Given the description of an element on the screen output the (x, y) to click on. 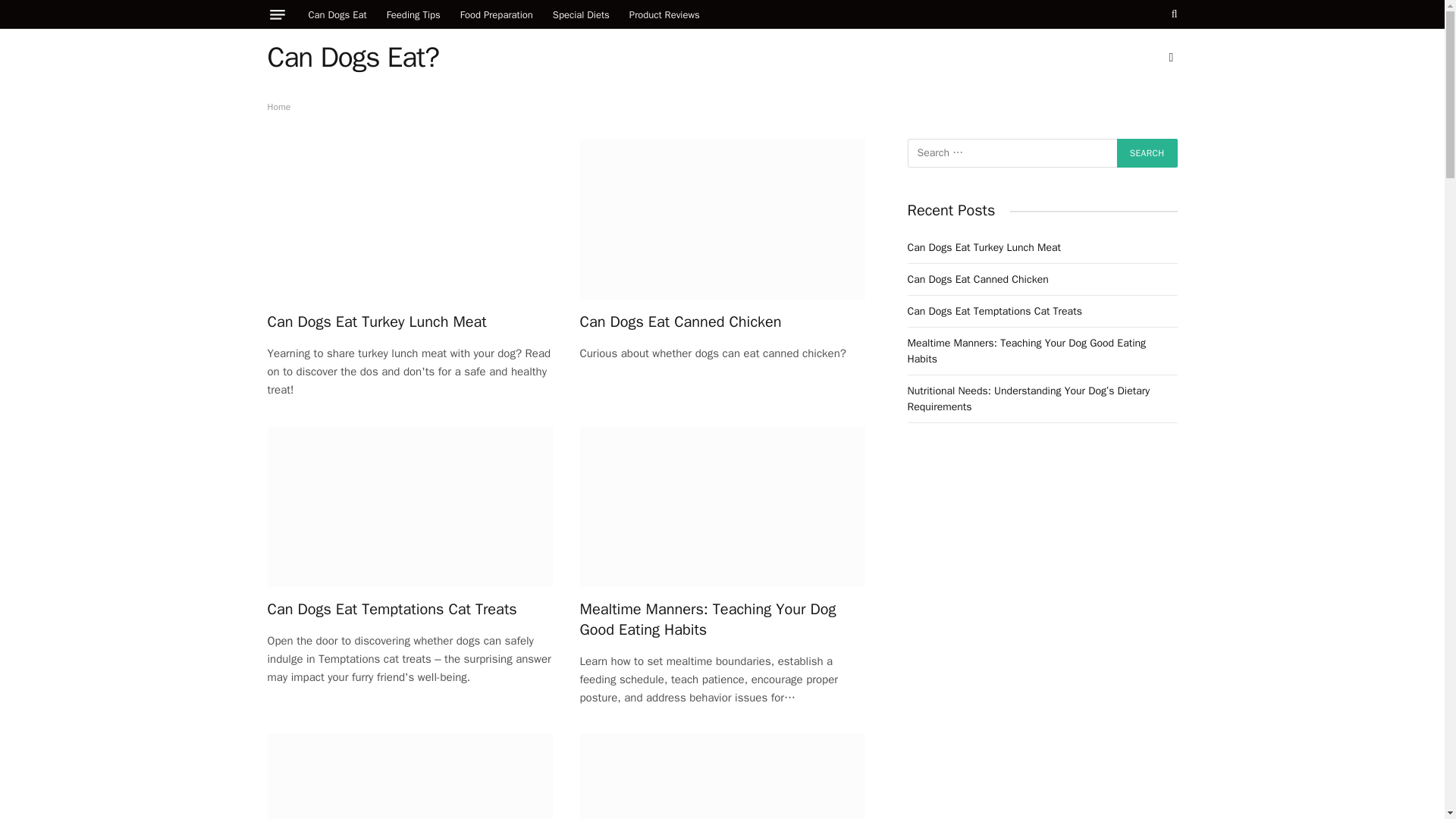
Can Dogs Eat Canned Chicken (721, 322)
Can Dogs Eat Canned Chicken (721, 218)
Can Dogs Eat Turkey Lunch Meat (408, 218)
Mealtime Manners: Teaching Your Dog Good Eating Habits (721, 618)
Mealtime Manners: Teaching Your Dog Good Eating Habits (721, 506)
Search (1146, 152)
Special Diets (581, 14)
Can Dogs Eat? (352, 57)
Switch to Dark Design - easier on eyes. (1168, 57)
Can Dogs Eat? (352, 57)
Product Reviews (665, 14)
Feeding Tips (413, 14)
Can Dogs Eat Turkey Lunch Meat (408, 322)
Search (1173, 14)
Can Dogs Eat Temptations Cat Treats (408, 506)
